Given the description of an element on the screen output the (x, y) to click on. 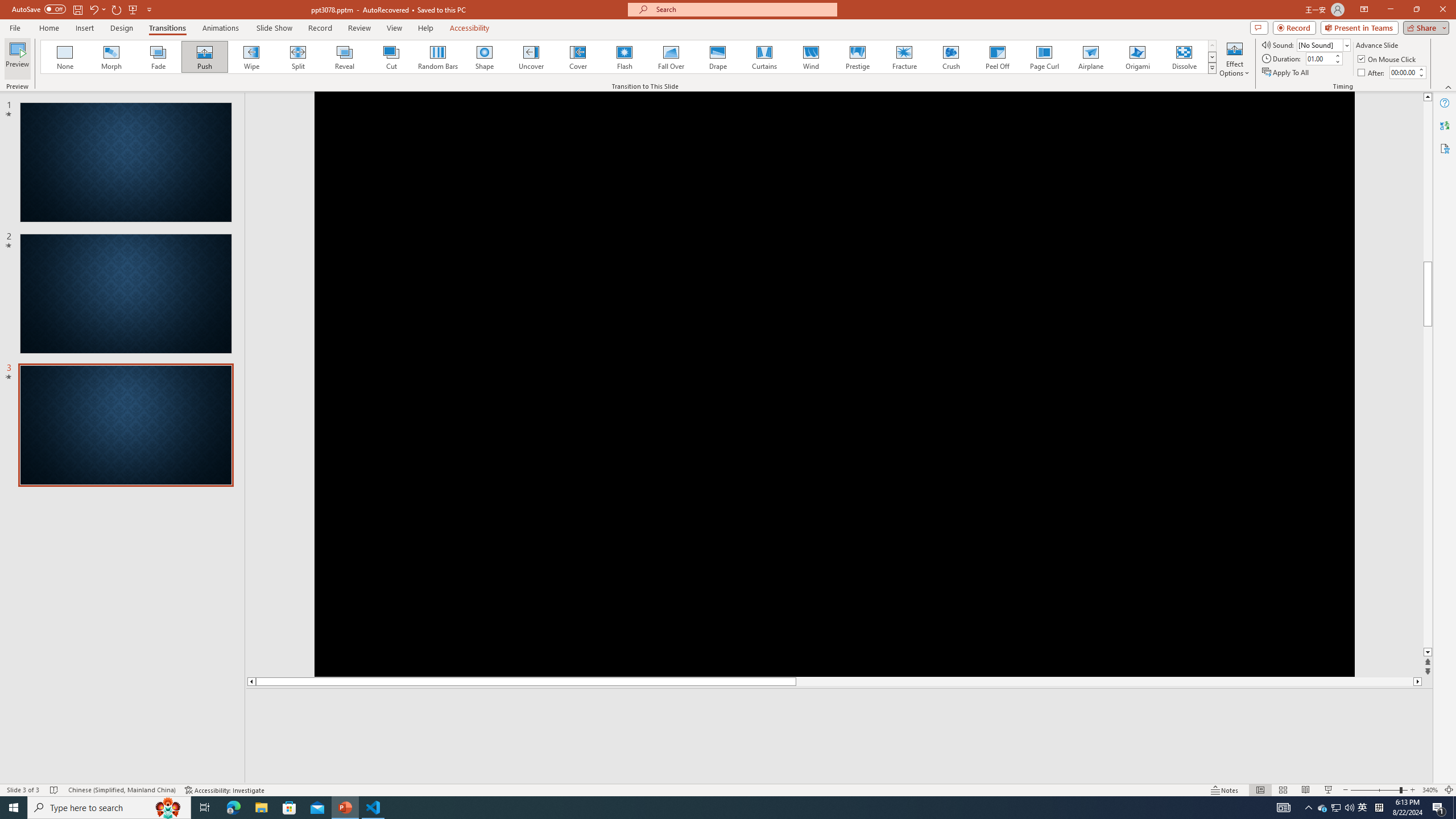
Reveal (344, 56)
Flash (624, 56)
Transition Effects (1212, 67)
Airplane (1090, 56)
Wipe (251, 56)
